Given the description of an element on the screen output the (x, y) to click on. 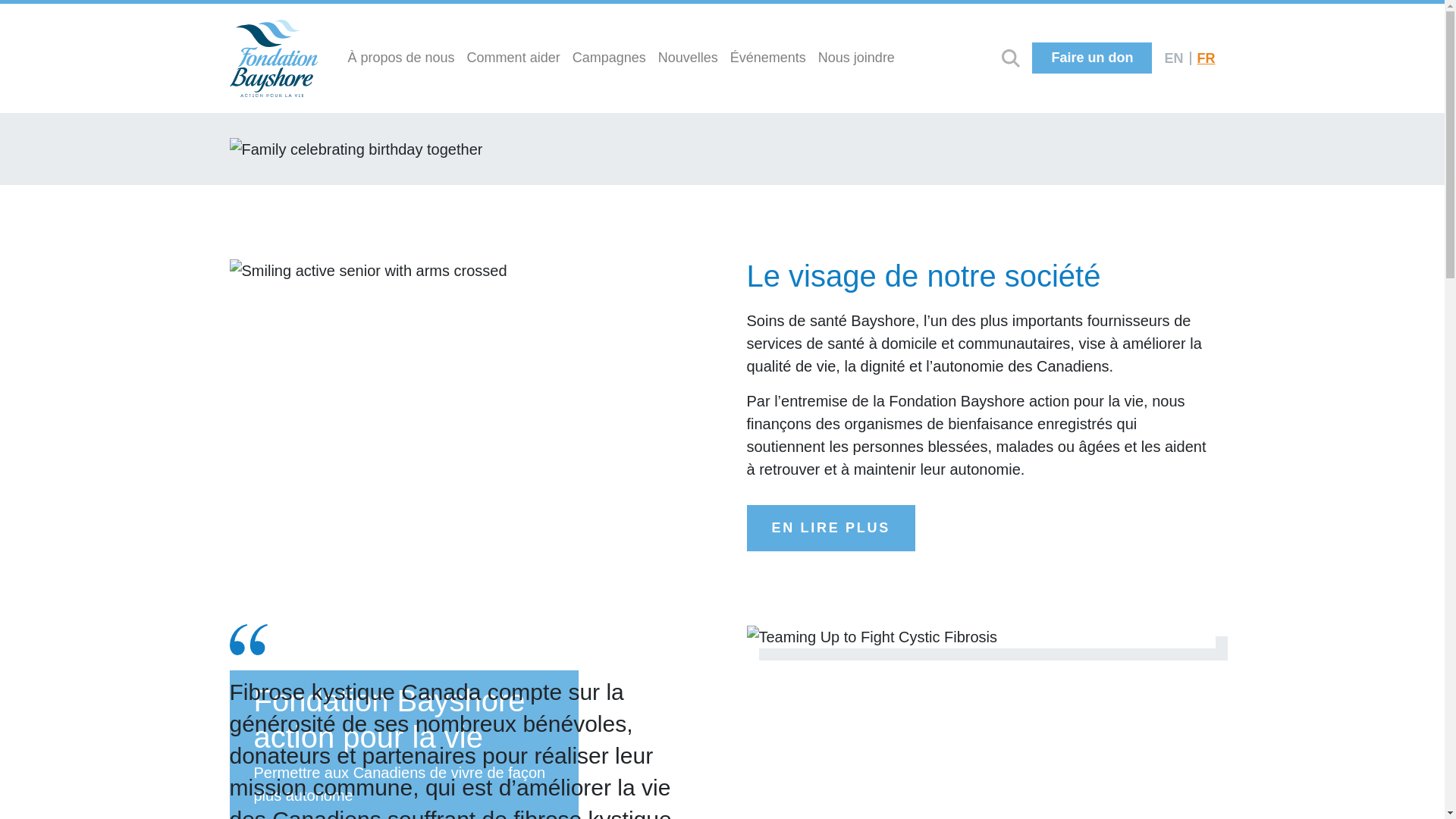
Faire un don Element type: text (1091, 57)
EN LIRE PLUS Element type: text (830, 528)
Campagnes Element type: text (609, 57)
Skip to main content Element type: text (36, 18)
Comment aider Element type: text (513, 57)
EN Element type: text (1173, 57)
Nous joindre Element type: text (856, 57)
Chercher Element type: text (1010, 58)
Nouvelles Element type: text (688, 57)
